Given the description of an element on the screen output the (x, y) to click on. 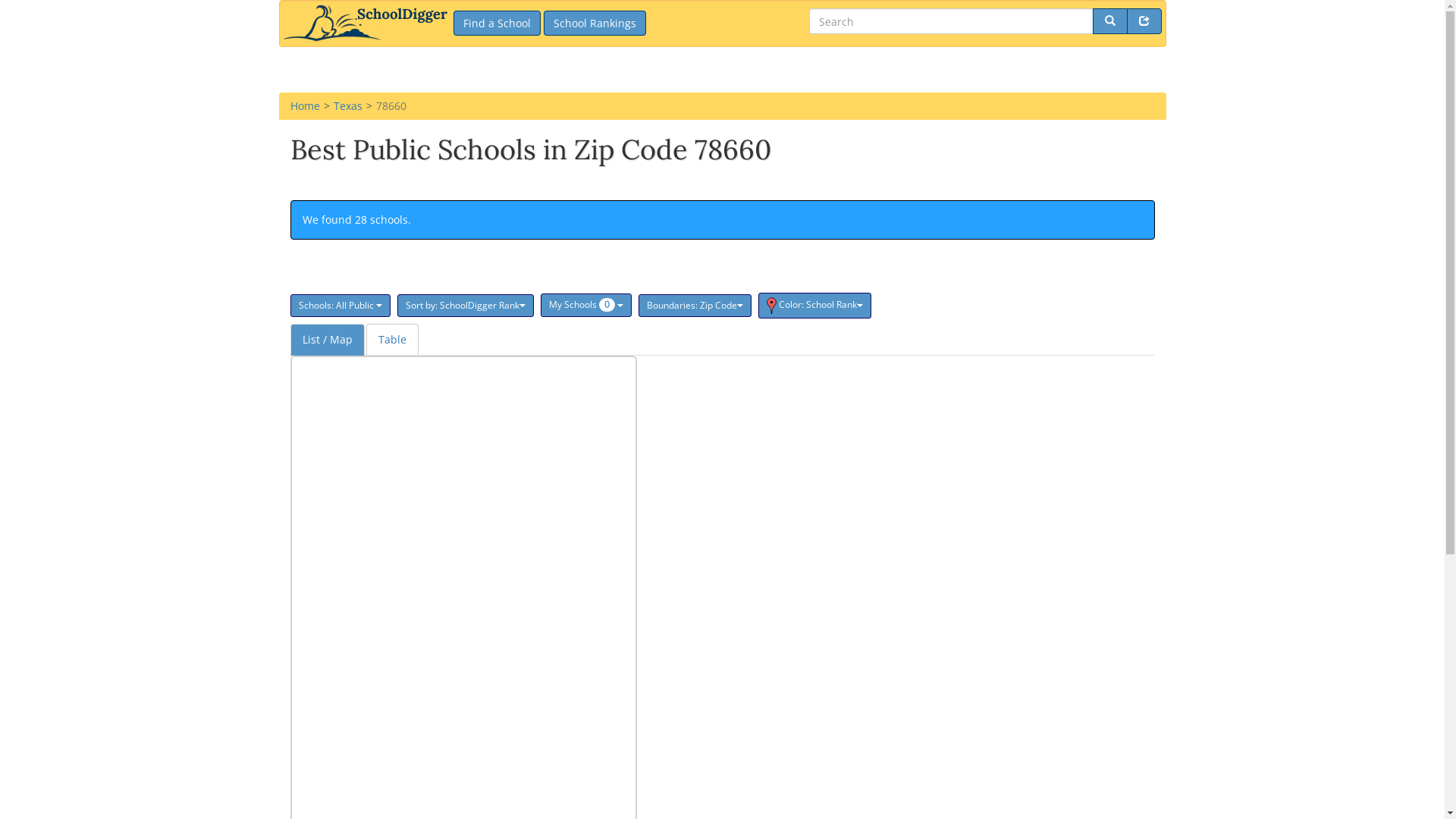
List / Map Element type: text (326, 339)
Boundaries: Zip Code Element type: text (694, 305)
Color: School Rank Element type: text (814, 305)
School Rankings Element type: text (593, 22)
Schools: All Public Element type: text (339, 305)
Home Element type: text (304, 105)
Table Element type: text (391, 339)
Share Element type: hover (1143, 21)
My Schools 0  Element type: text (584, 304)
Sort by: SchoolDigger Rank Element type: text (465, 305)
Texas Element type: text (347, 105)
Find a School Element type: text (496, 22)
